Given the description of an element on the screen output the (x, y) to click on. 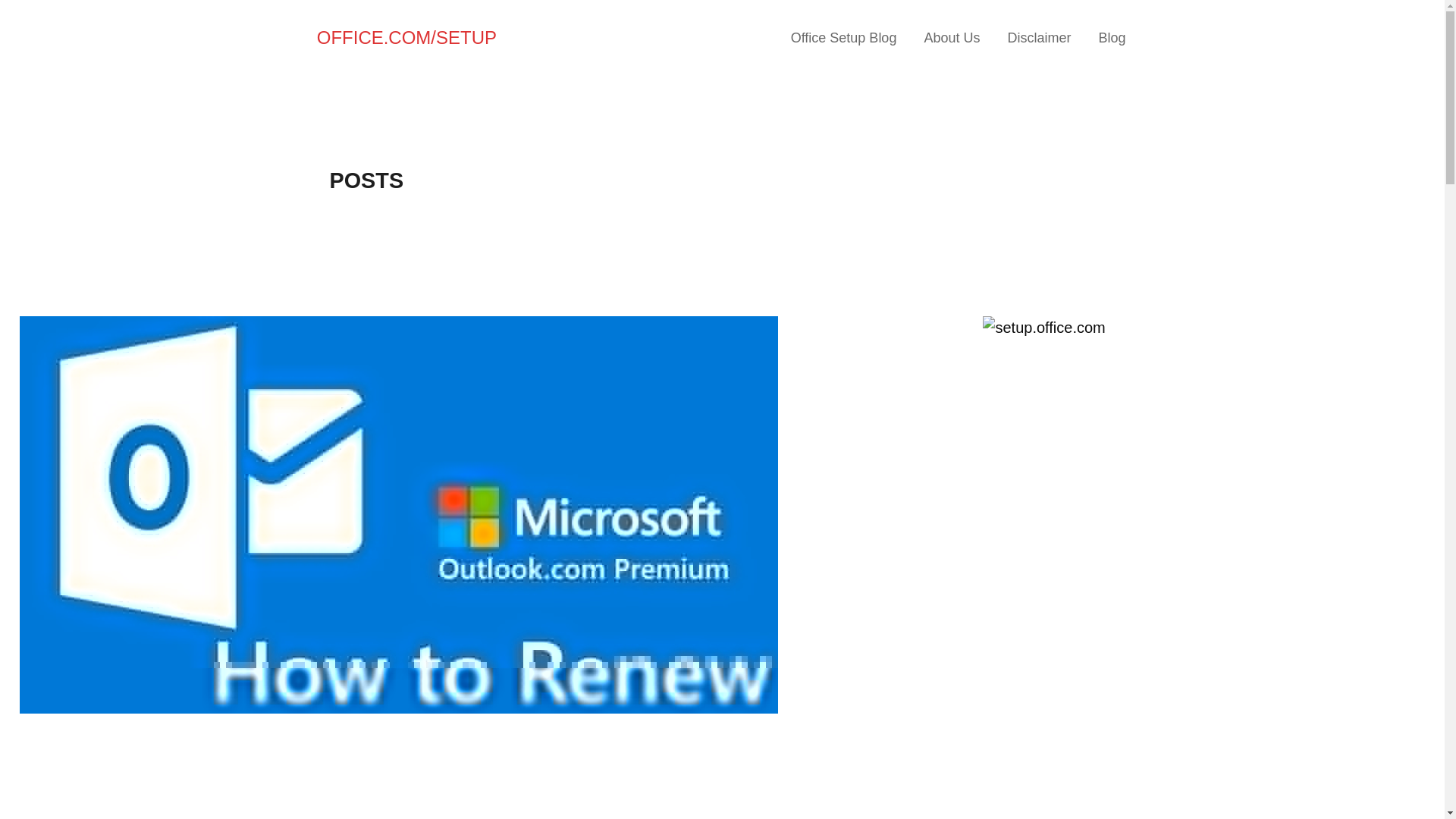
Office Setup Blog (844, 38)
Disclaimer (1038, 38)
Advertisement (481, 784)
About Us (951, 38)
